Given the description of an element on the screen output the (x, y) to click on. 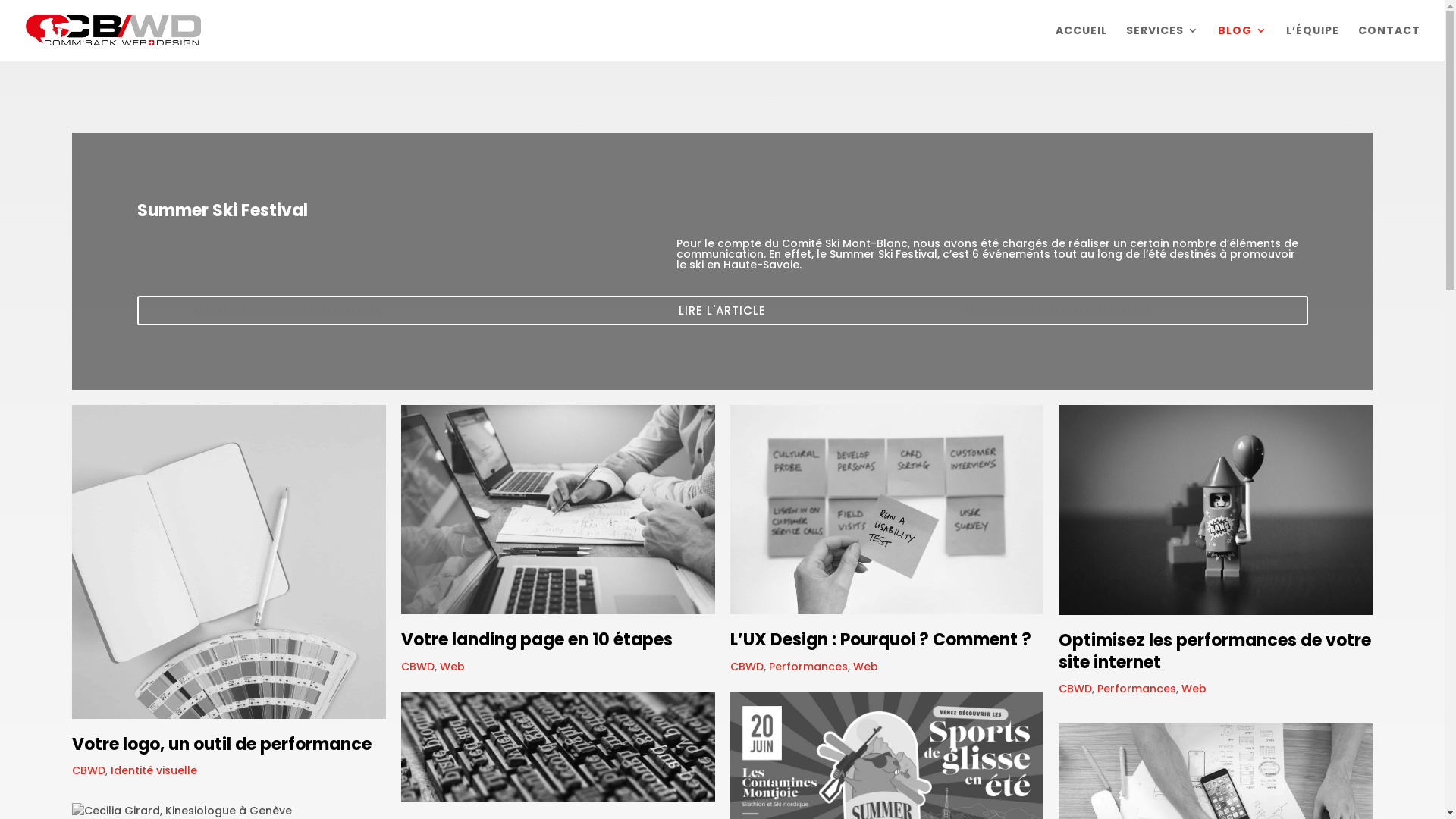
CONTACT Element type: text (1389, 42)
Performances Element type: text (807, 666)
Photo par David Travis Element type: hover (886, 509)
Web Element type: text (1193, 688)
ACCUEIL Element type: text (1081, 42)
Votre logo, un outil de performance Element type: hover (228, 561)
Performances Element type: text (1136, 688)
CBWD Element type: text (88, 770)
Web Element type: text (864, 666)
CBWD Element type: text (417, 666)
Web Element type: text (451, 666)
BLOG Element type: text (1242, 42)
fontes Element type: hover (558, 746)
Votre landing page en 10 points Element type: hover (558, 509)
LIRE L'ARTICLE Element type: text (722, 320)
SERVICES Element type: text (1162, 42)
CBWD Element type: text (745, 666)
CBWD Element type: text (1075, 688)
